Given the description of an element on the screen output the (x, y) to click on. 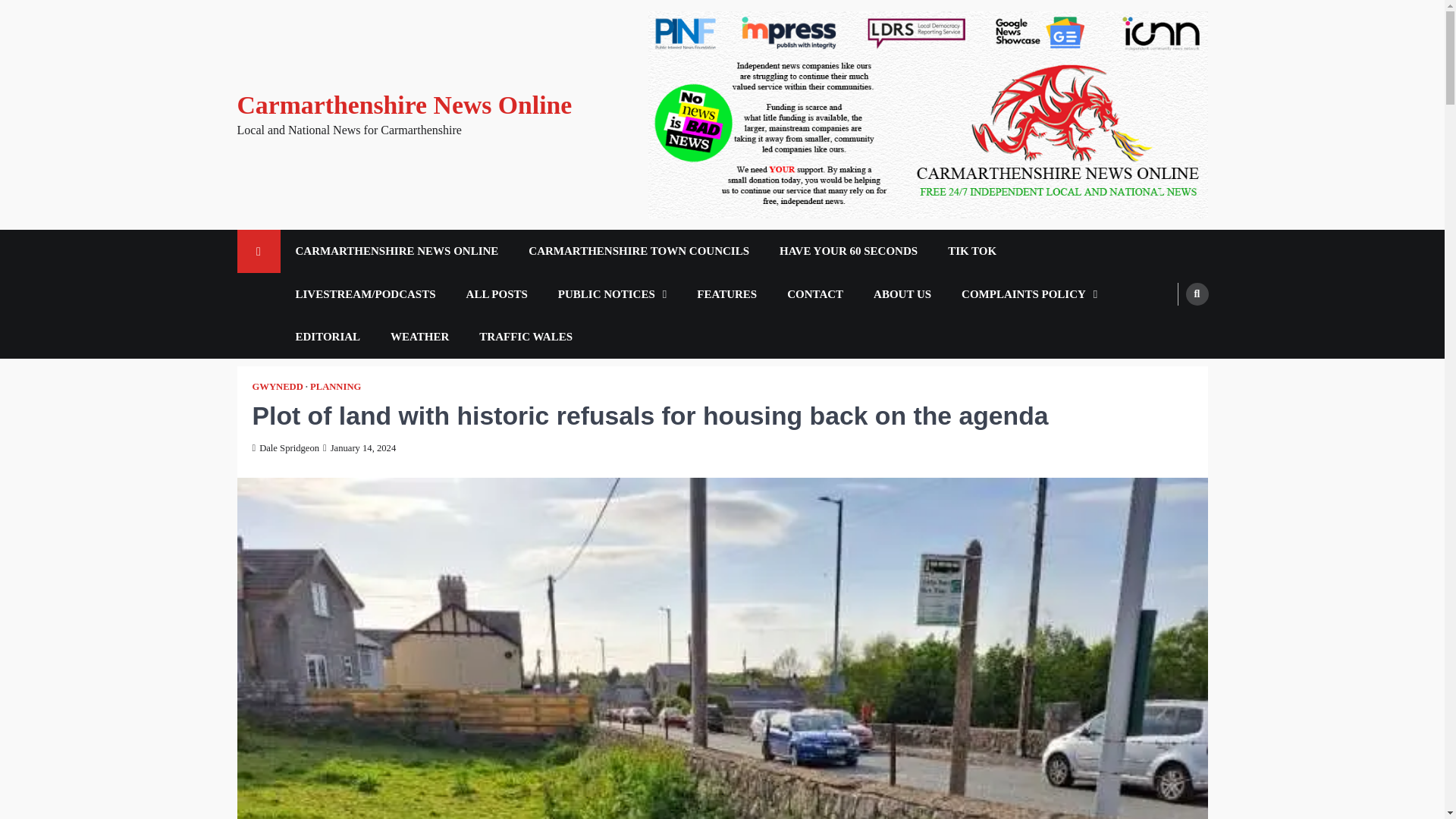
TIK TOK (972, 251)
FEATURES (726, 294)
COMPLAINTS POLICY (1029, 294)
Search (1168, 329)
WEATHER (419, 336)
TRAFFIC WALES (526, 336)
HAVE YOUR 60 SECONDS (848, 251)
Search (1197, 293)
CARMARTHENSHIRE TOWN COUNCILS (638, 251)
Dale Spridgeon (284, 448)
